Given the description of an element on the screen output the (x, y) to click on. 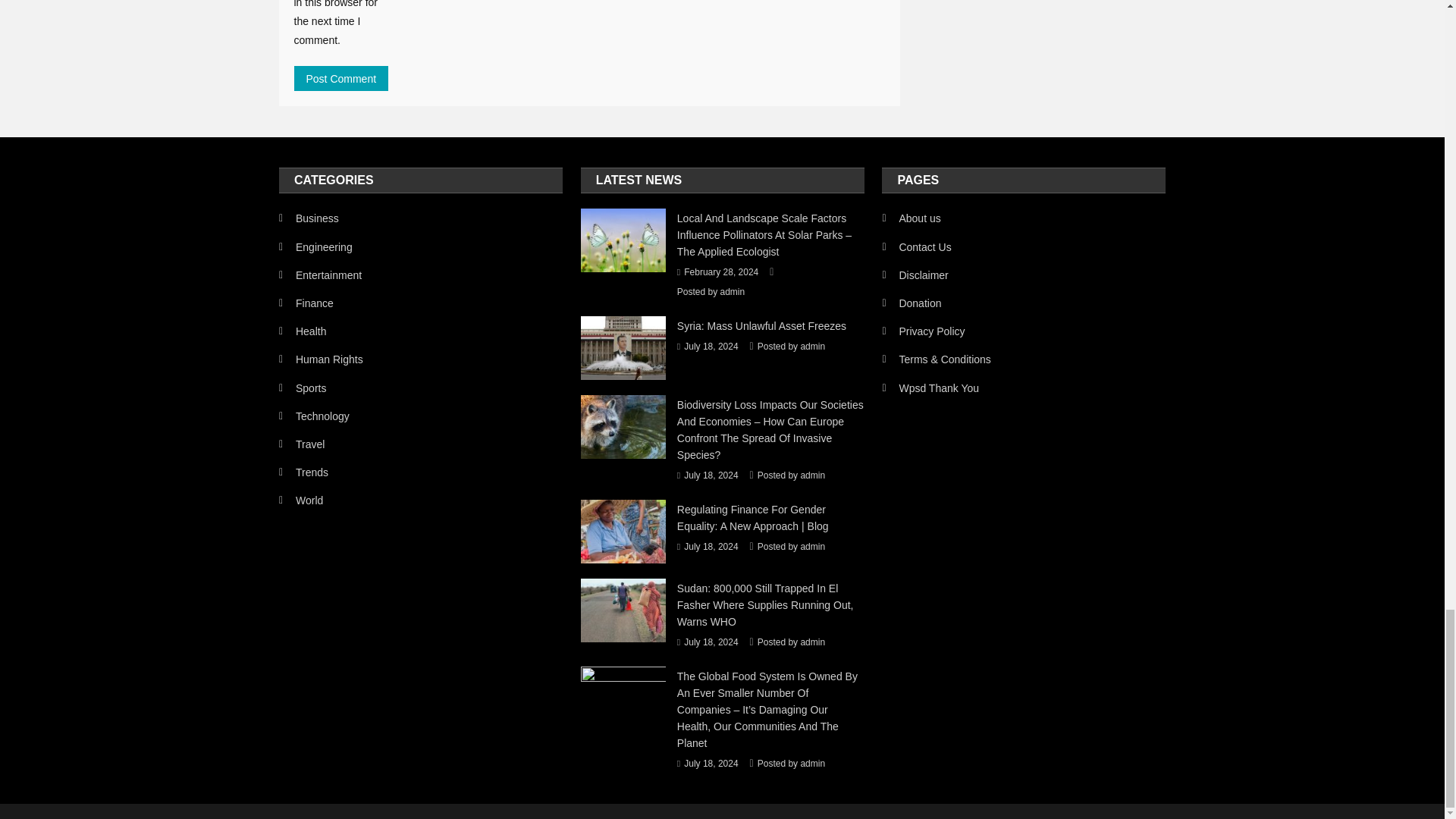
Post Comment (341, 78)
